Given the description of an element on the screen output the (x, y) to click on. 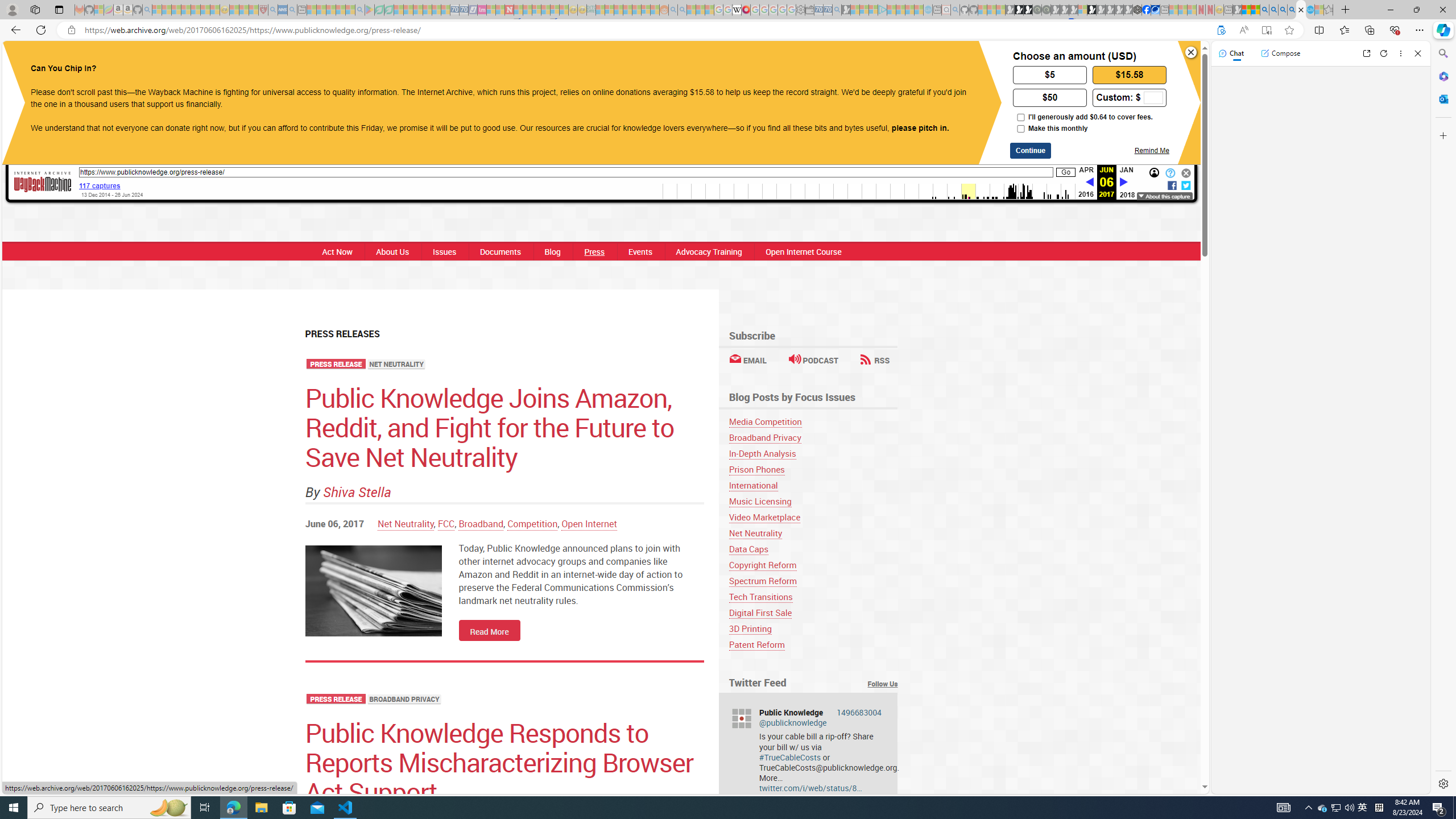
APR (1085, 169)
Act Now (337, 251)
FCC (445, 523)
FACEBOOK (647, 60)
Prison Phones (756, 469)
